Given the description of an element on the screen output the (x, y) to click on. 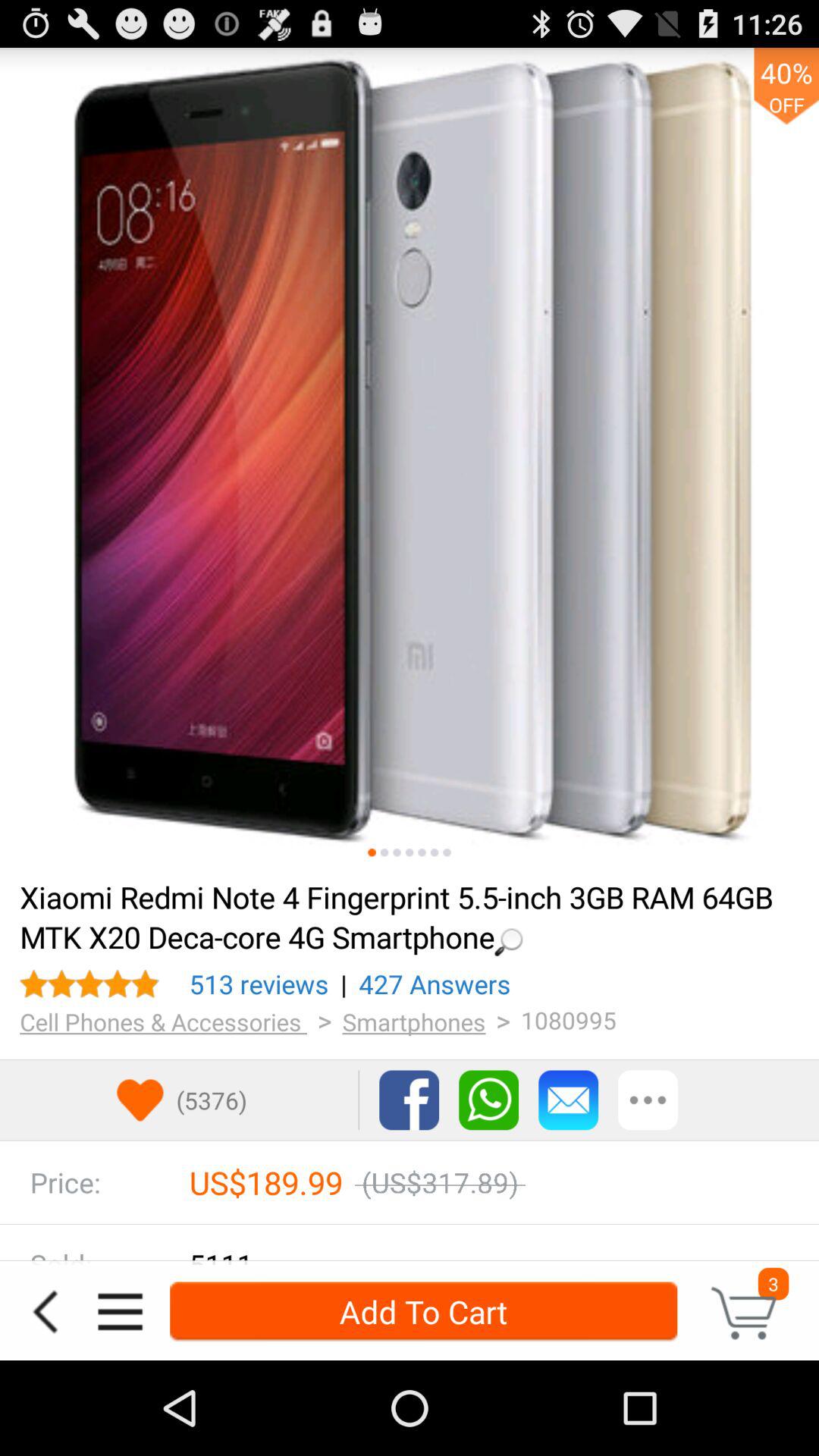
more options (647, 1100)
